Given the description of an element on the screen output the (x, y) to click on. 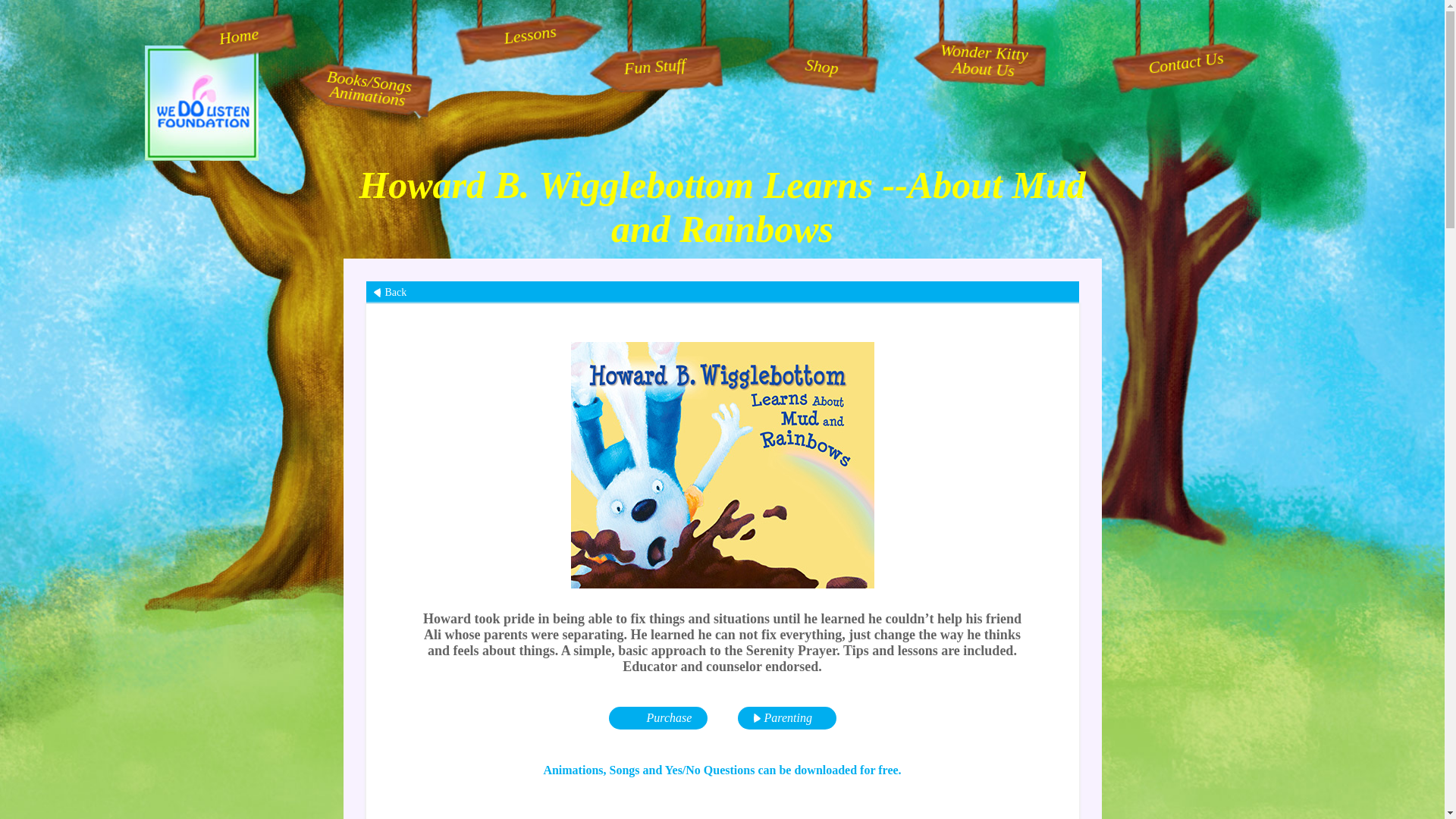
Shop (818, 63)
Home (236, 28)
Contact Us (1184, 54)
Purchase (657, 717)
Lessons (976, 58)
Fun Stuff (528, 26)
Back (654, 64)
Parenting (721, 292)
